Given the description of an element on the screen output the (x, y) to click on. 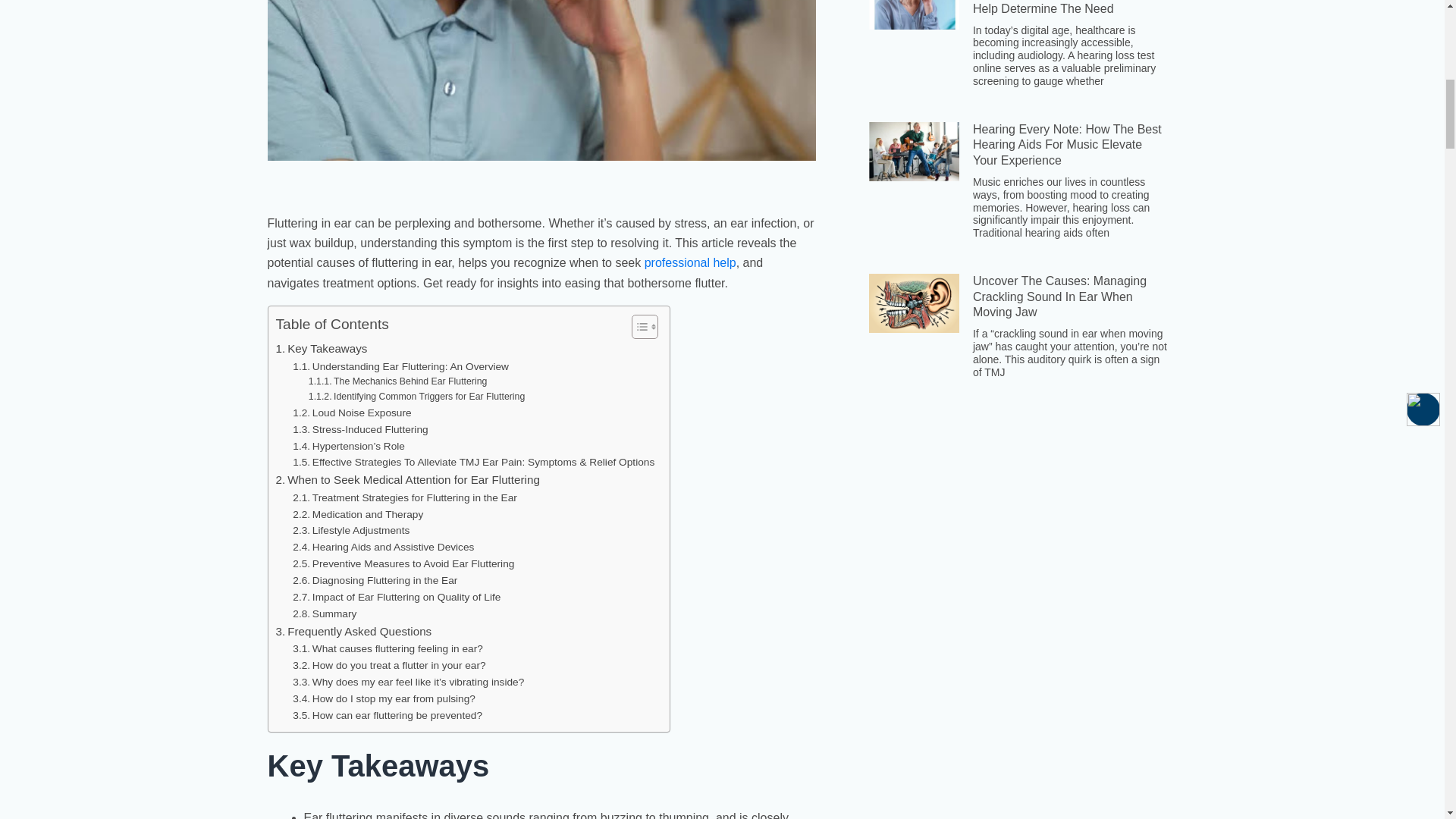
Identifying Common Triggers for Ear Fluttering (416, 396)
Understanding Ear Fluttering: An Overview (400, 366)
Loud Noise Exposure (351, 412)
The Mechanics Behind Ear Fluttering (397, 381)
Key Takeaways (322, 348)
Stress-Induced Fluttering (360, 429)
